Given the description of an element on the screen output the (x, y) to click on. 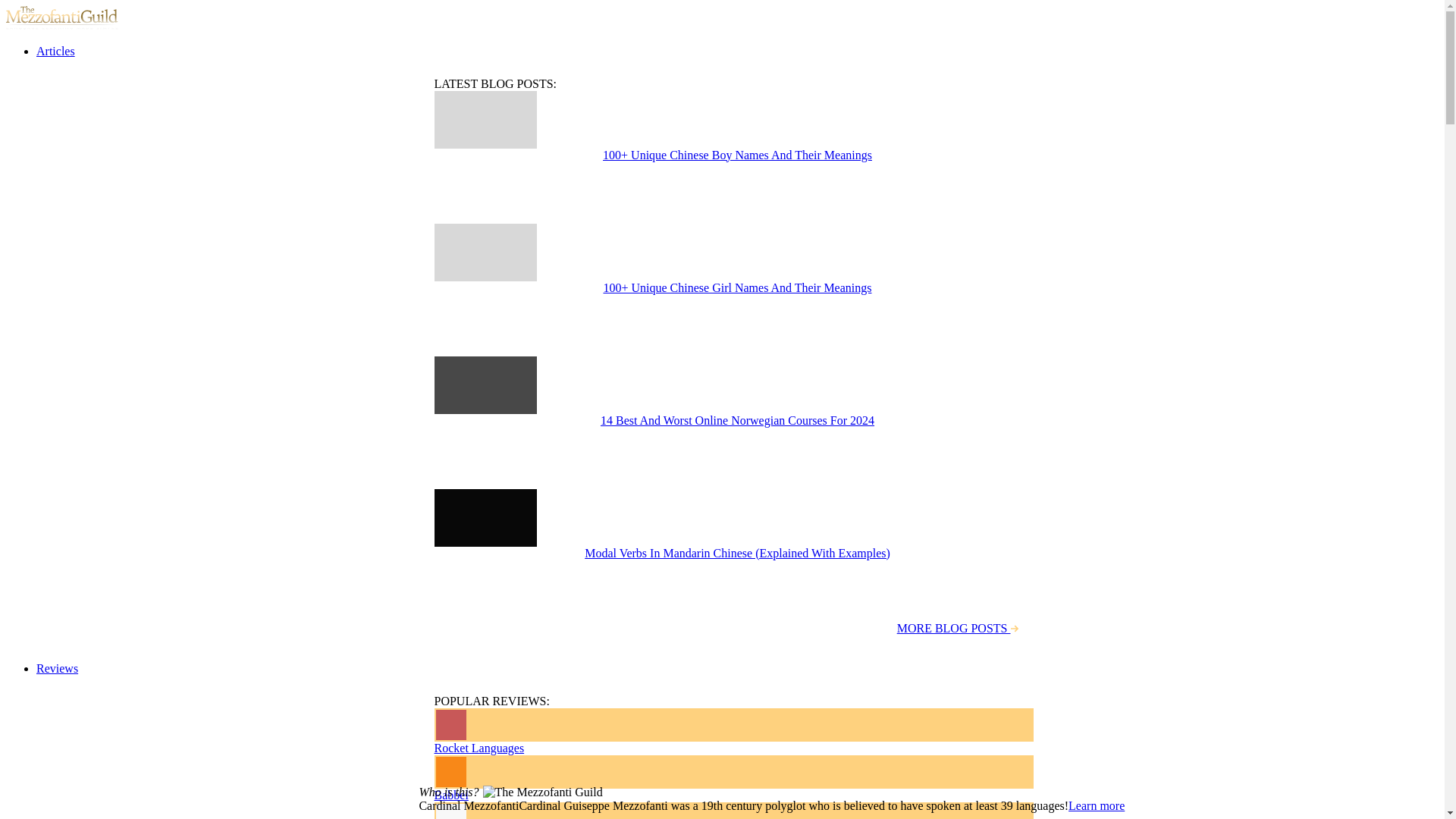
MORE BLOG POSTS (956, 628)
Rocket Languages (732, 731)
14 Best And Worst Online Norwegian Courses For 2024 (737, 422)
Pimsleur (732, 810)
Articles (55, 51)
Babbel (732, 778)
Reviews (57, 667)
